Given the description of an element on the screen output the (x, y) to click on. 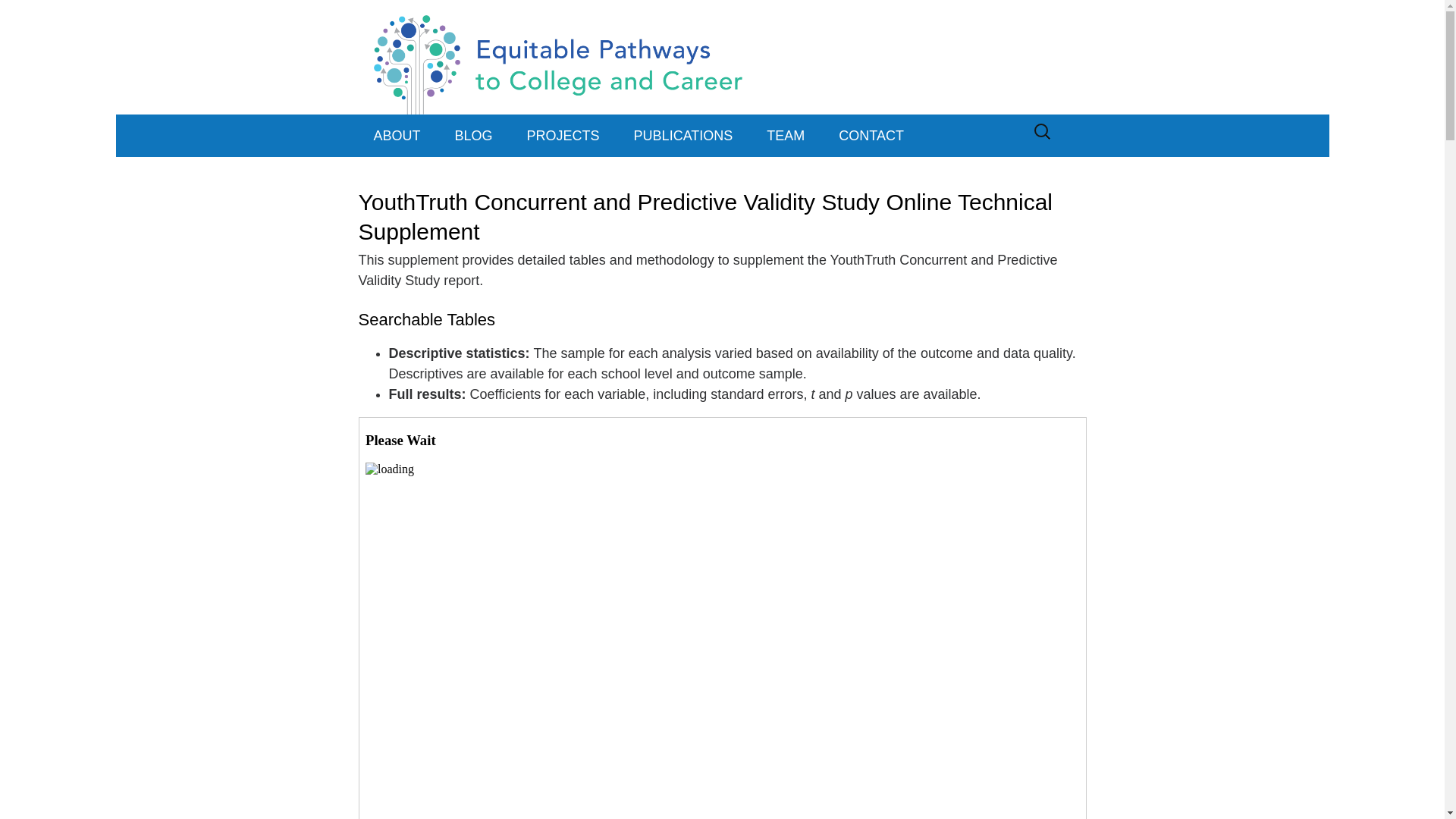
Search (18, 17)
TEAM (785, 135)
CONTACT (871, 135)
College and Career Pathways (722, 57)
BLOG (473, 135)
ABOUT (396, 135)
PUBLICATIONS (683, 135)
PROJECTS (563, 135)
